Given the description of an element on the screen output the (x, y) to click on. 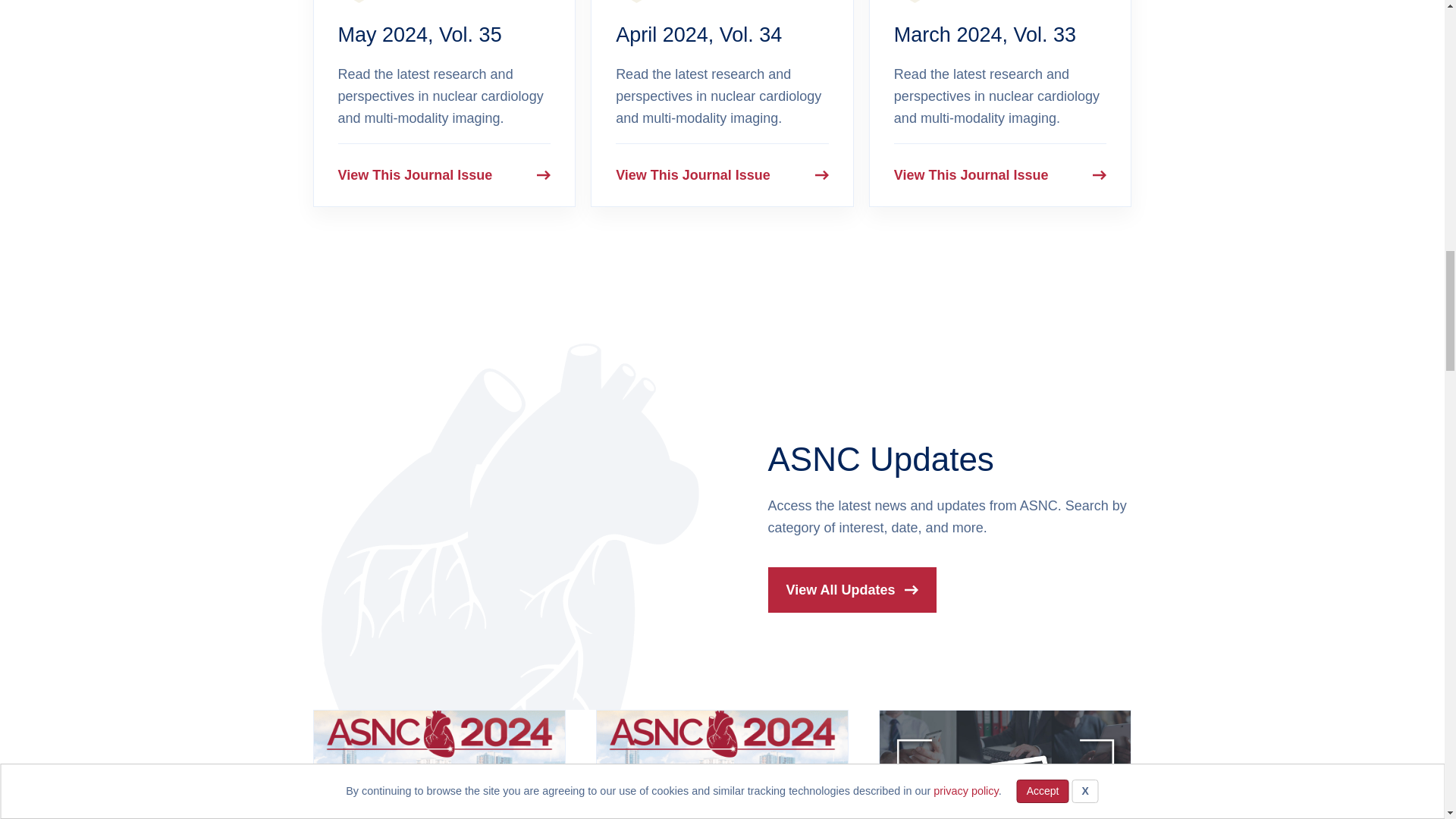
April 2024, Vol. 34 (698, 34)
May 2024, Vol. 35 (419, 34)
ASNC Updates (879, 458)
March 2024, Vol. 33 (984, 34)
